Given the description of an element on the screen output the (x, y) to click on. 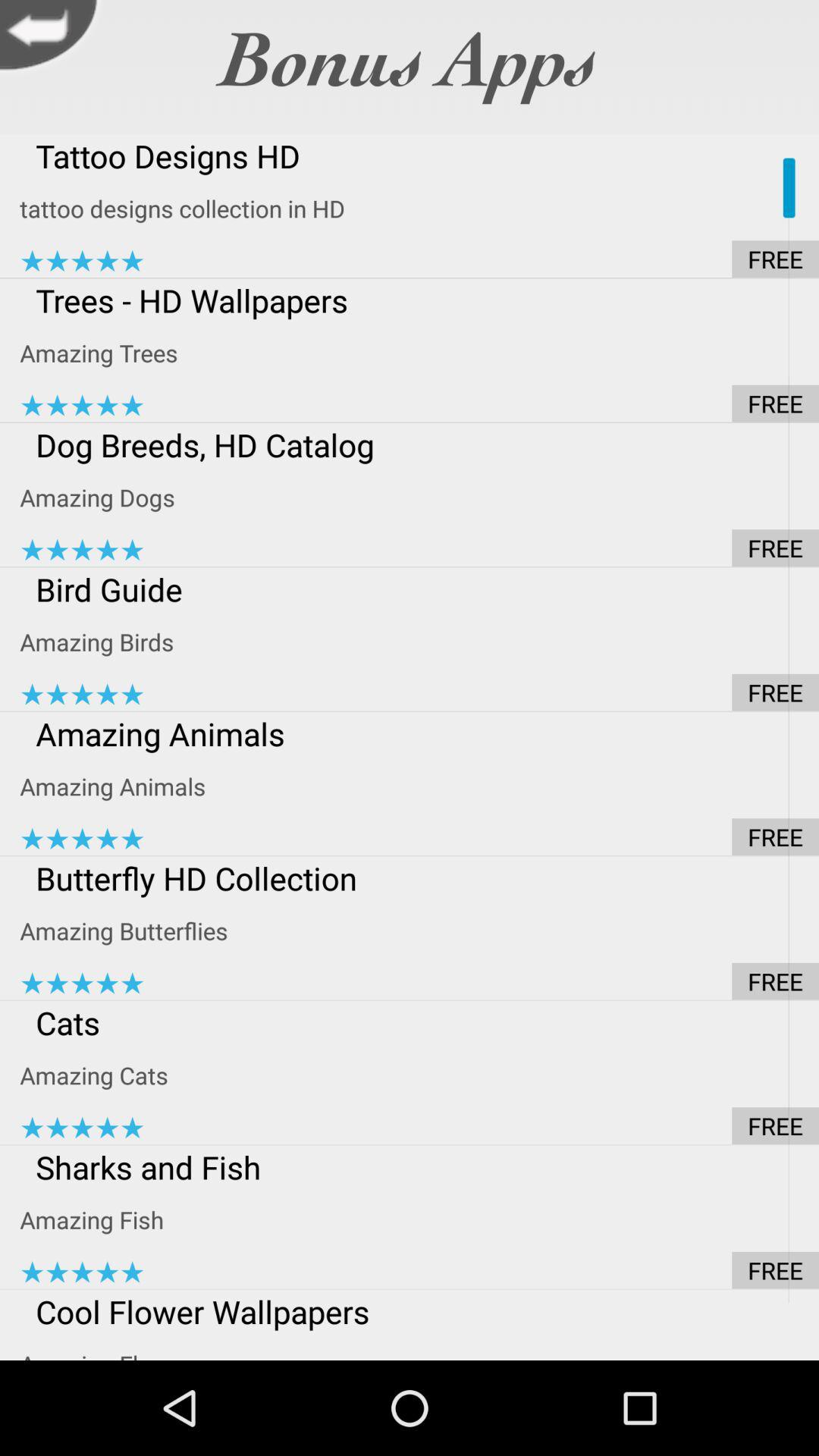
go to previous (52, 38)
